Given the description of an element on the screen output the (x, y) to click on. 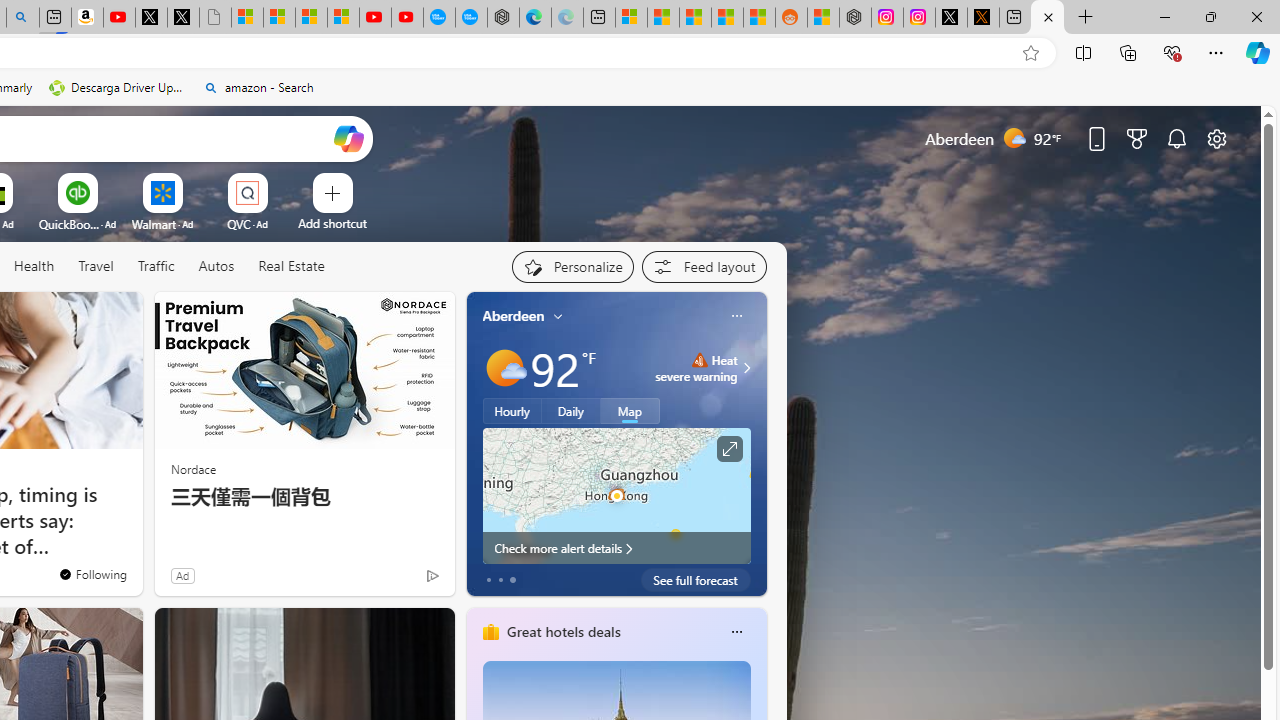
Real Estate (291, 265)
Health (34, 265)
Great hotels deals (562, 631)
Health (33, 267)
Check more alert details (616, 547)
You're following FOX News (92, 573)
Microsoft rewards (1137, 138)
Map (630, 411)
Shanghai, China Weather trends | Microsoft Weather (758, 17)
See full forecast (695, 579)
Untitled (215, 17)
Microsoft account | Microsoft Account Privacy Settings (630, 17)
Aberdeen (513, 315)
